Given the description of an element on the screen output the (x, y) to click on. 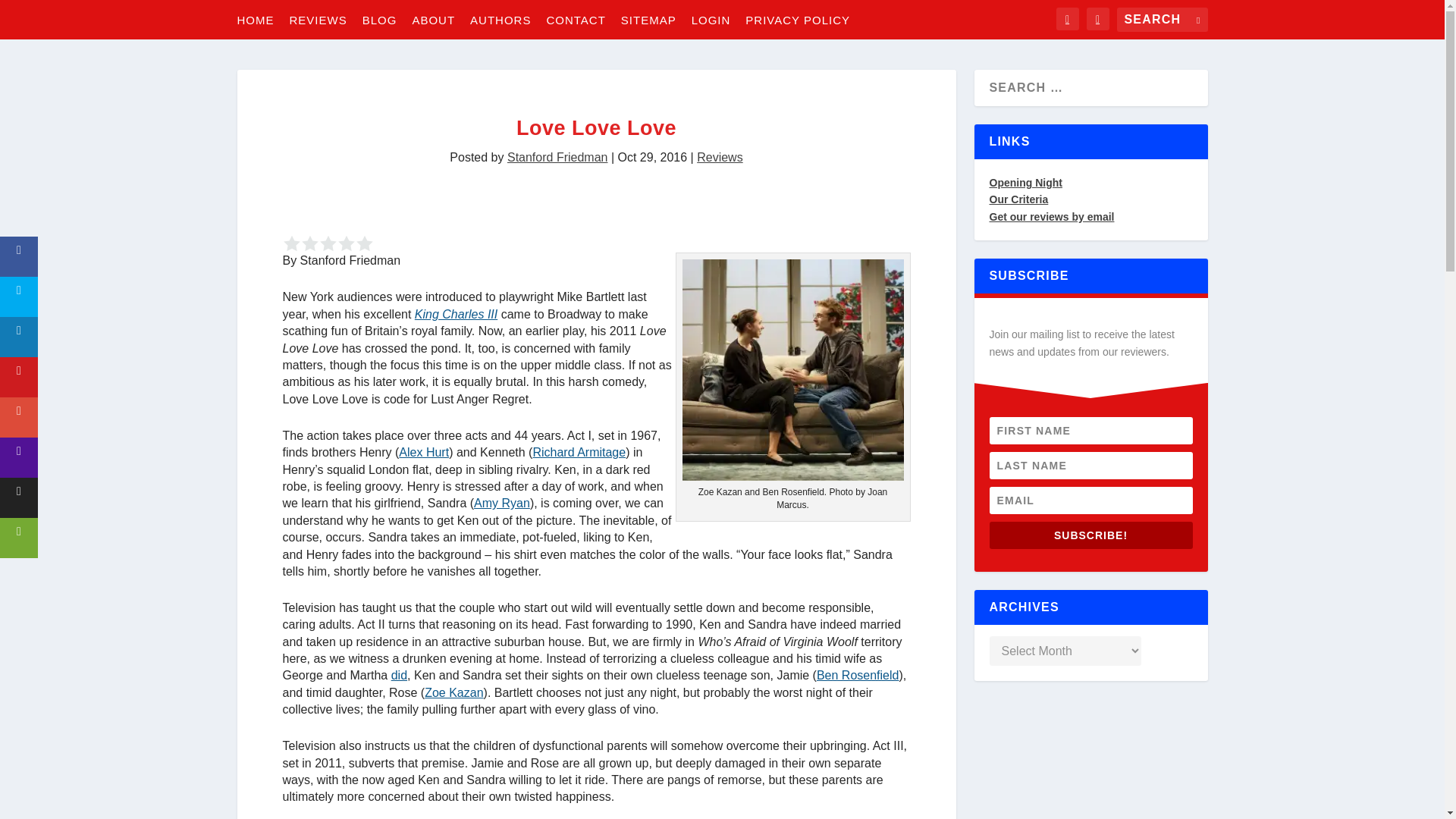
REVIEWS (318, 19)
CONTACT (575, 19)
LOGIN (710, 19)
AUTHORS (500, 19)
PRIVACY POLICY (797, 19)
HOME (254, 19)
ABOUT (433, 19)
Search for: (1161, 19)
Posts by Stanford Friedman (557, 156)
BLOG (379, 19)
